Given the description of an element on the screen output the (x, y) to click on. 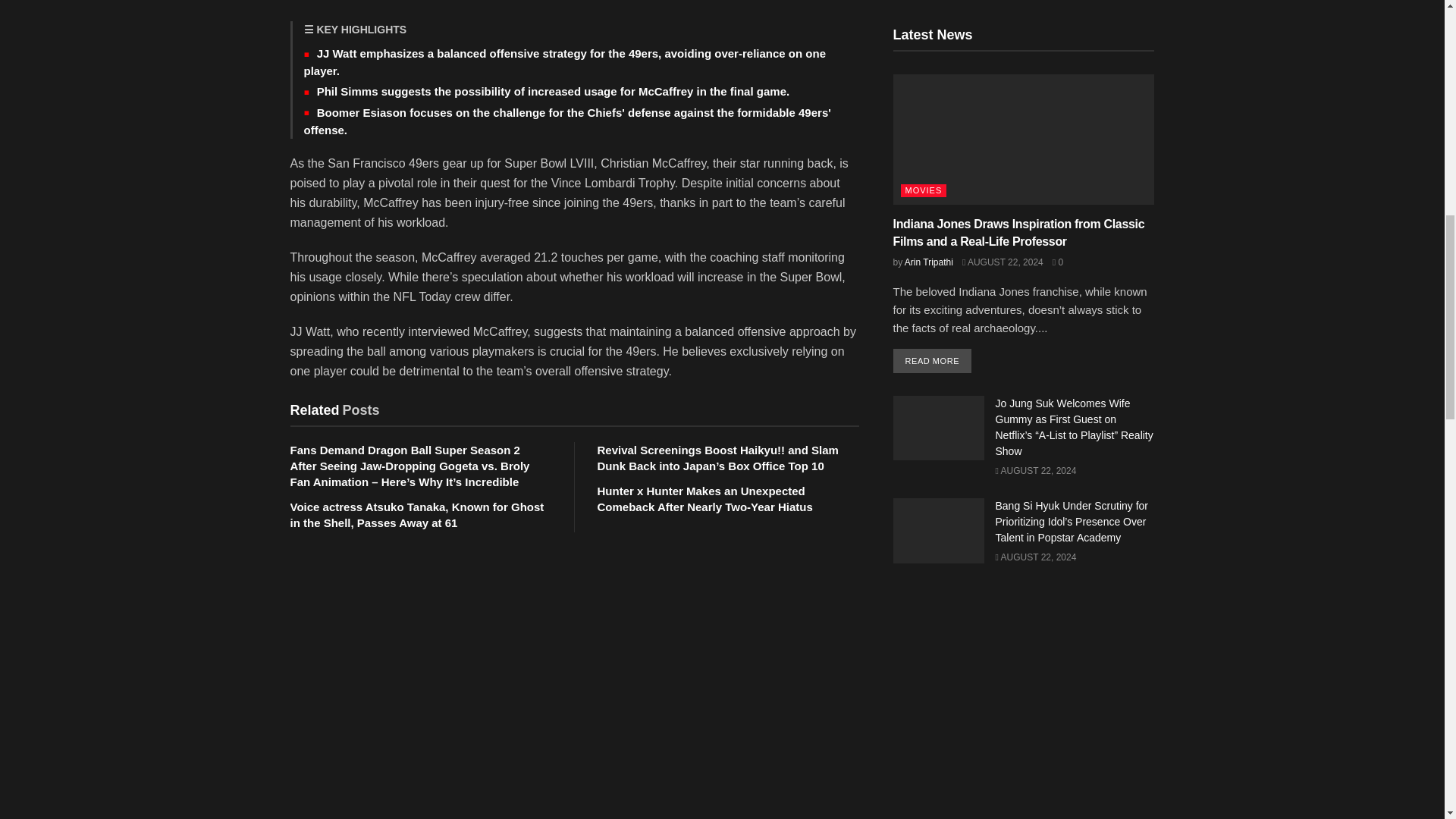
MOVIES (924, 190)
Arin Tripathi (928, 262)
AUGUST 22, 2024 (1002, 262)
0 (1057, 262)
